Given the description of an element on the screen output the (x, y) to click on. 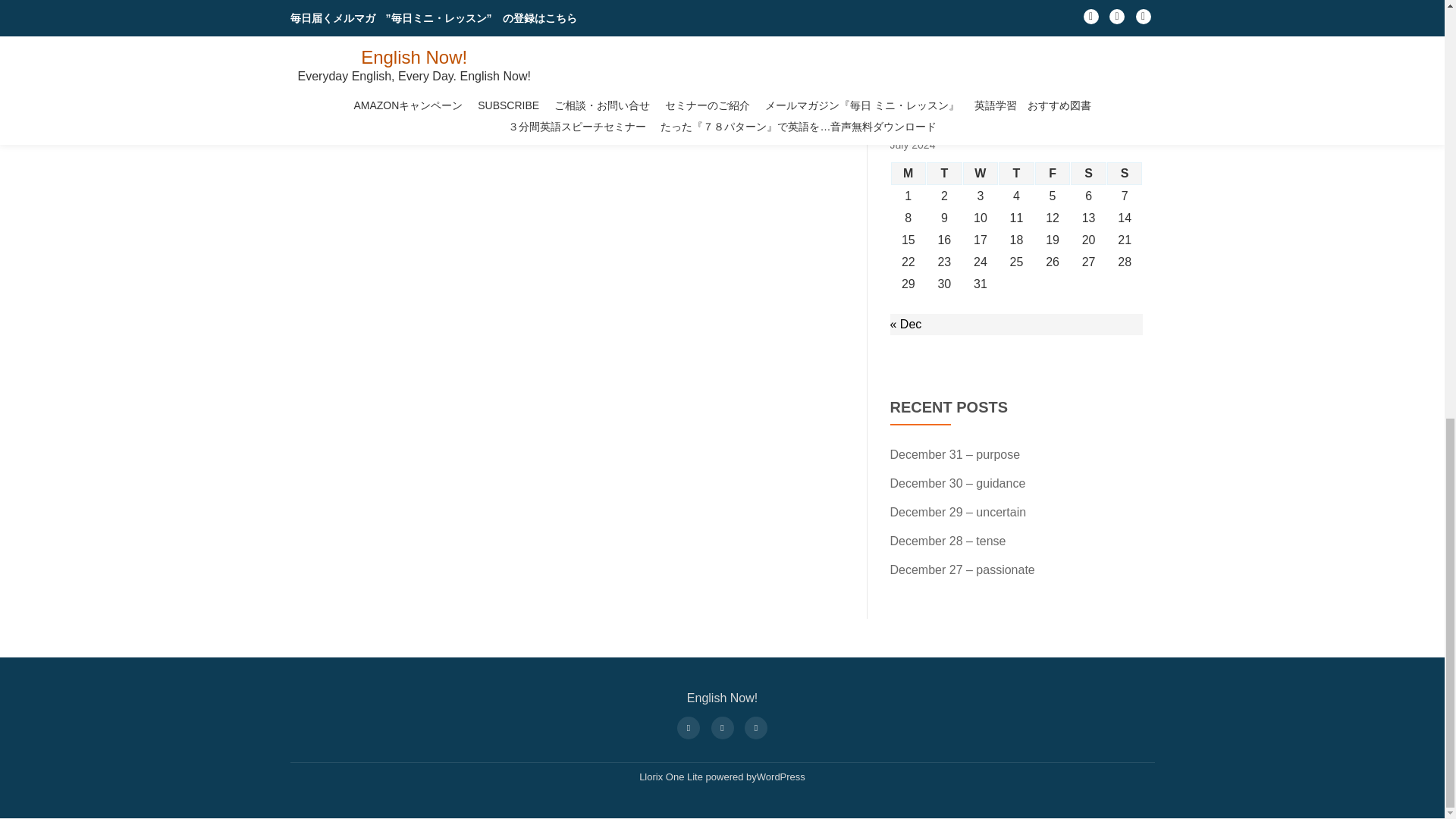
fa-facebook (687, 726)
WordPress (781, 776)
fa-twitter (721, 726)
Sunday (1124, 173)
Wednesday (980, 173)
Llorix One Lite (671, 776)
Thursday (1015, 173)
Friday (1052, 173)
Monday (907, 173)
fa-google-plus-square (756, 726)
Saturday (1088, 173)
Tuesday (944, 173)
